Given the description of an element on the screen output the (x, y) to click on. 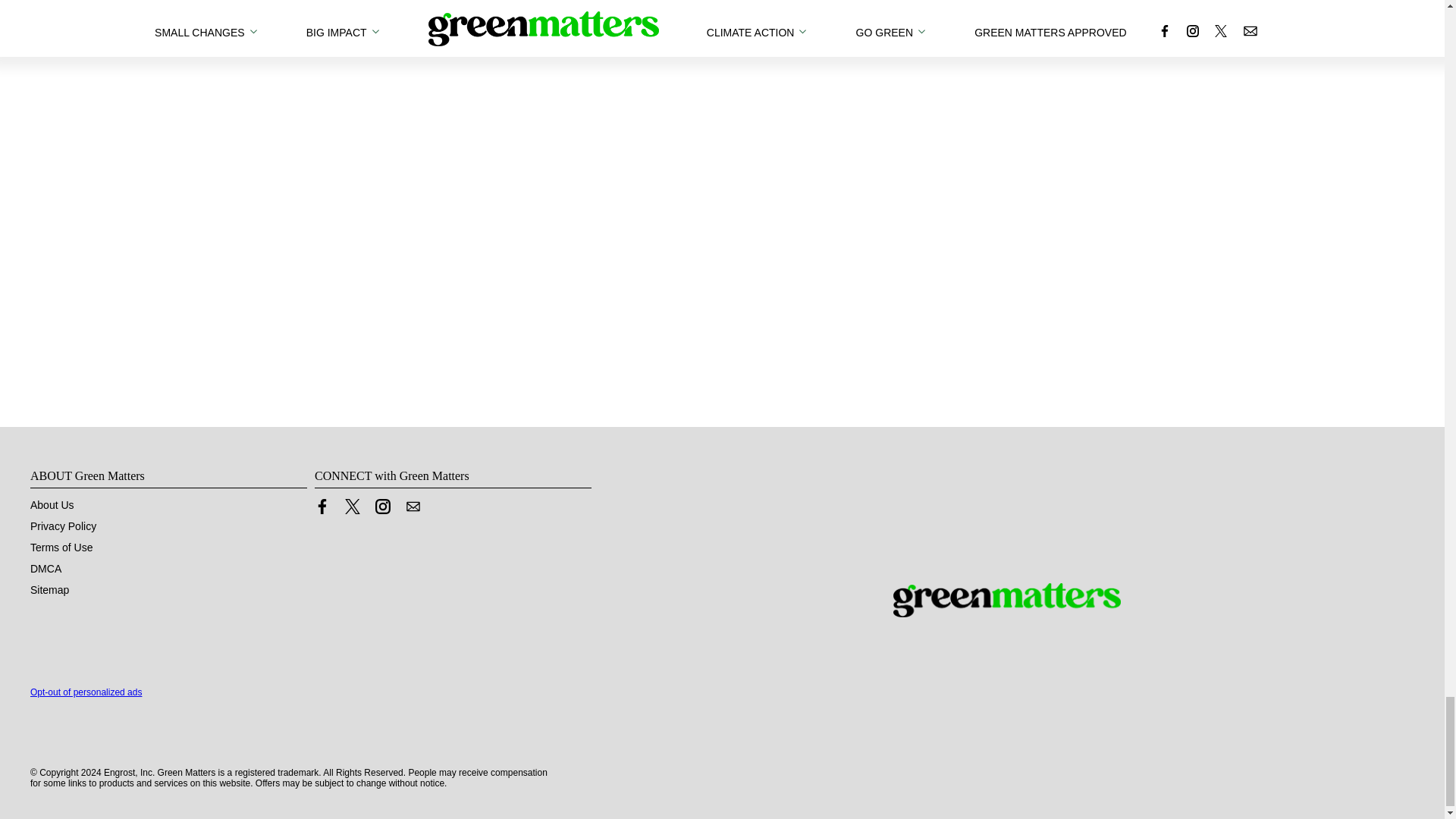
Contact us by Email (413, 506)
Terms of Use (61, 547)
Link to Facebook (322, 506)
About Us (52, 504)
Link to Instagram (382, 506)
Link to X (352, 506)
Privacy Policy (63, 526)
Sitemap (49, 589)
DMCA (45, 568)
